Given the description of an element on the screen output the (x, y) to click on. 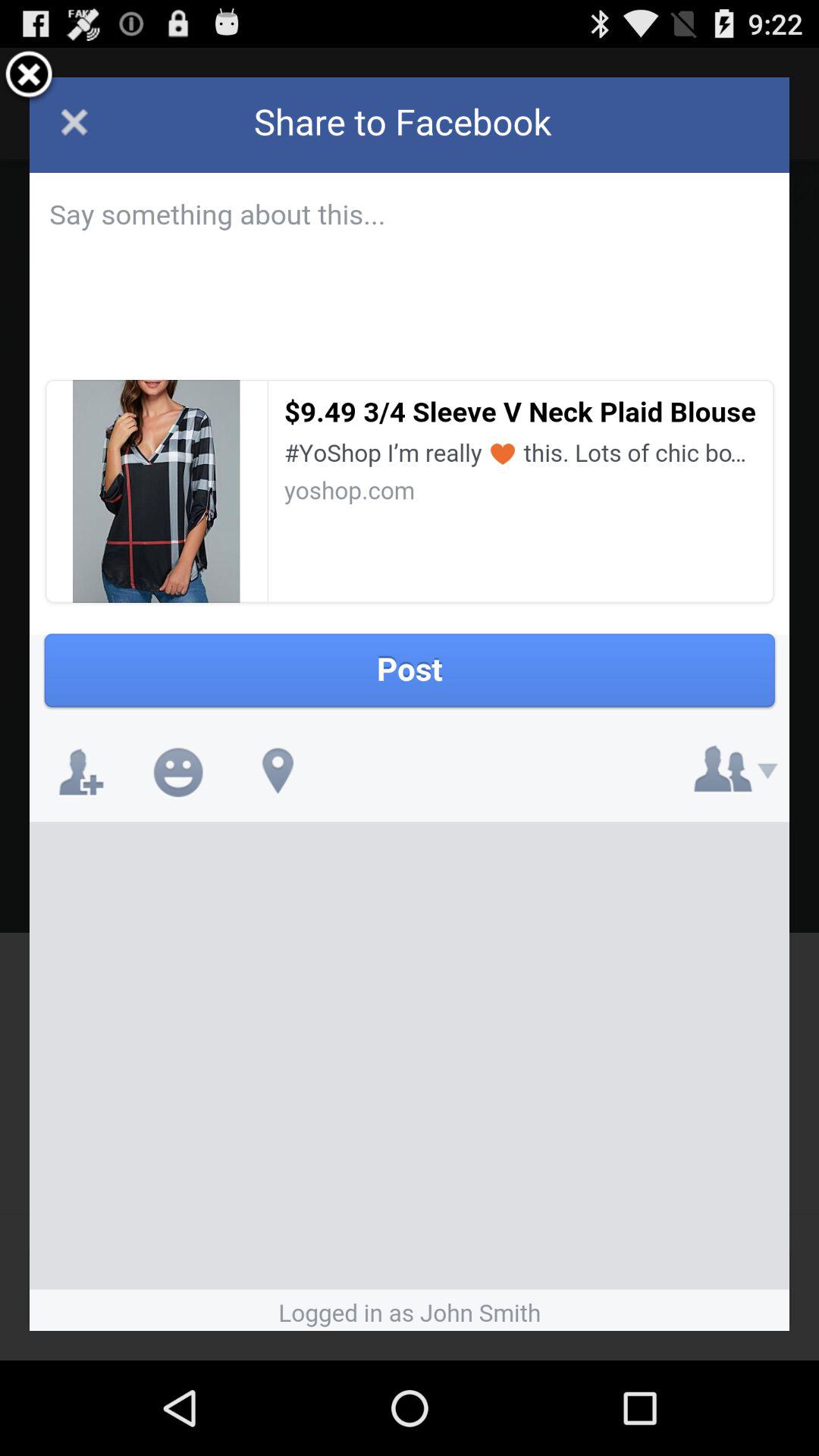
close screen (29, 76)
